Given the description of an element on the screen output the (x, y) to click on. 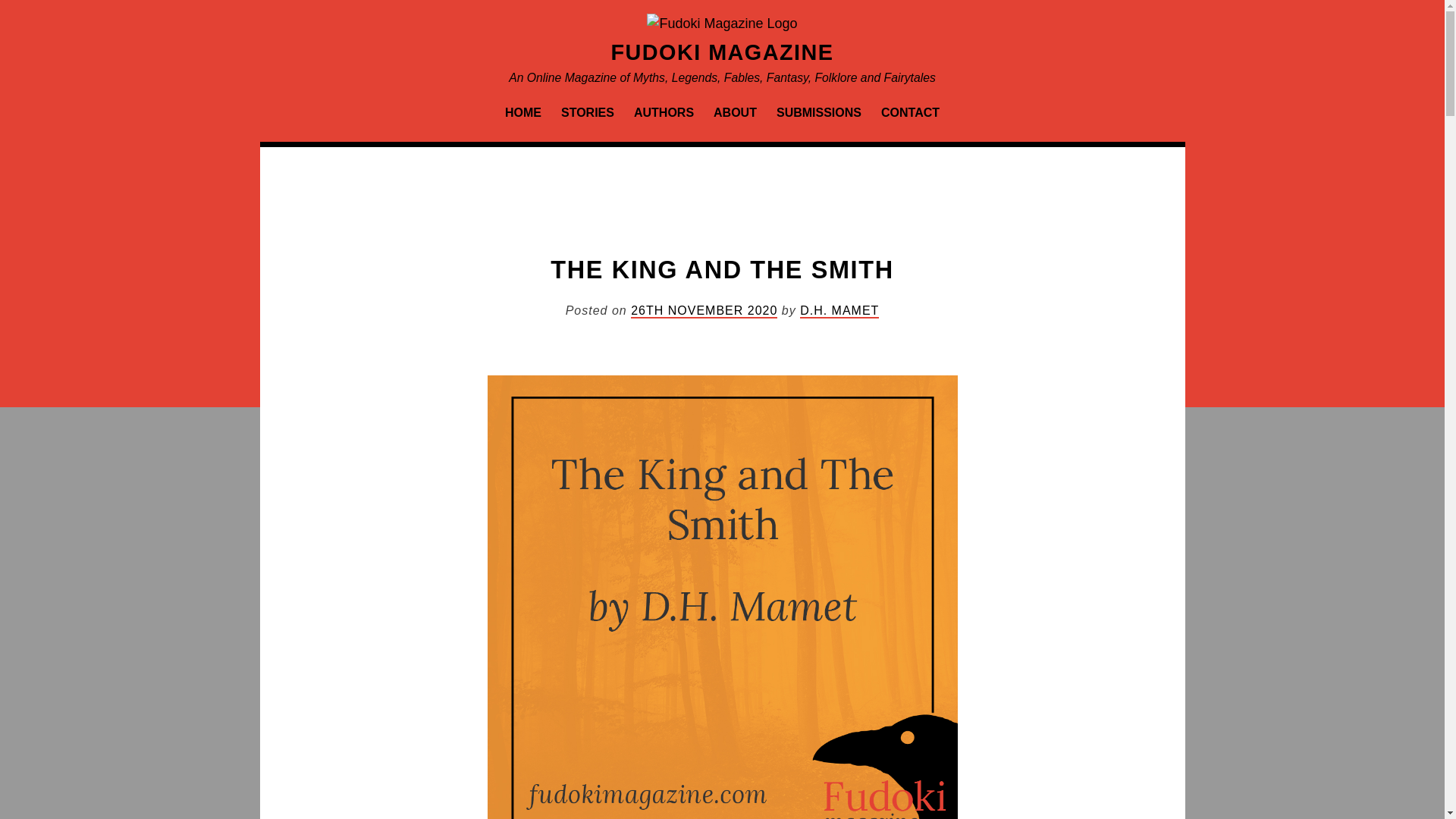
FUDOKI MAGAZINE (722, 52)
26TH NOVEMBER 2020 (703, 310)
ABOUT (735, 111)
AUTHORS (663, 111)
STORIES (587, 111)
SUBMISSIONS (818, 111)
D.H. MAMET (839, 310)
HOME (522, 111)
CONTACT (910, 111)
